Given the description of an element on the screen output the (x, y) to click on. 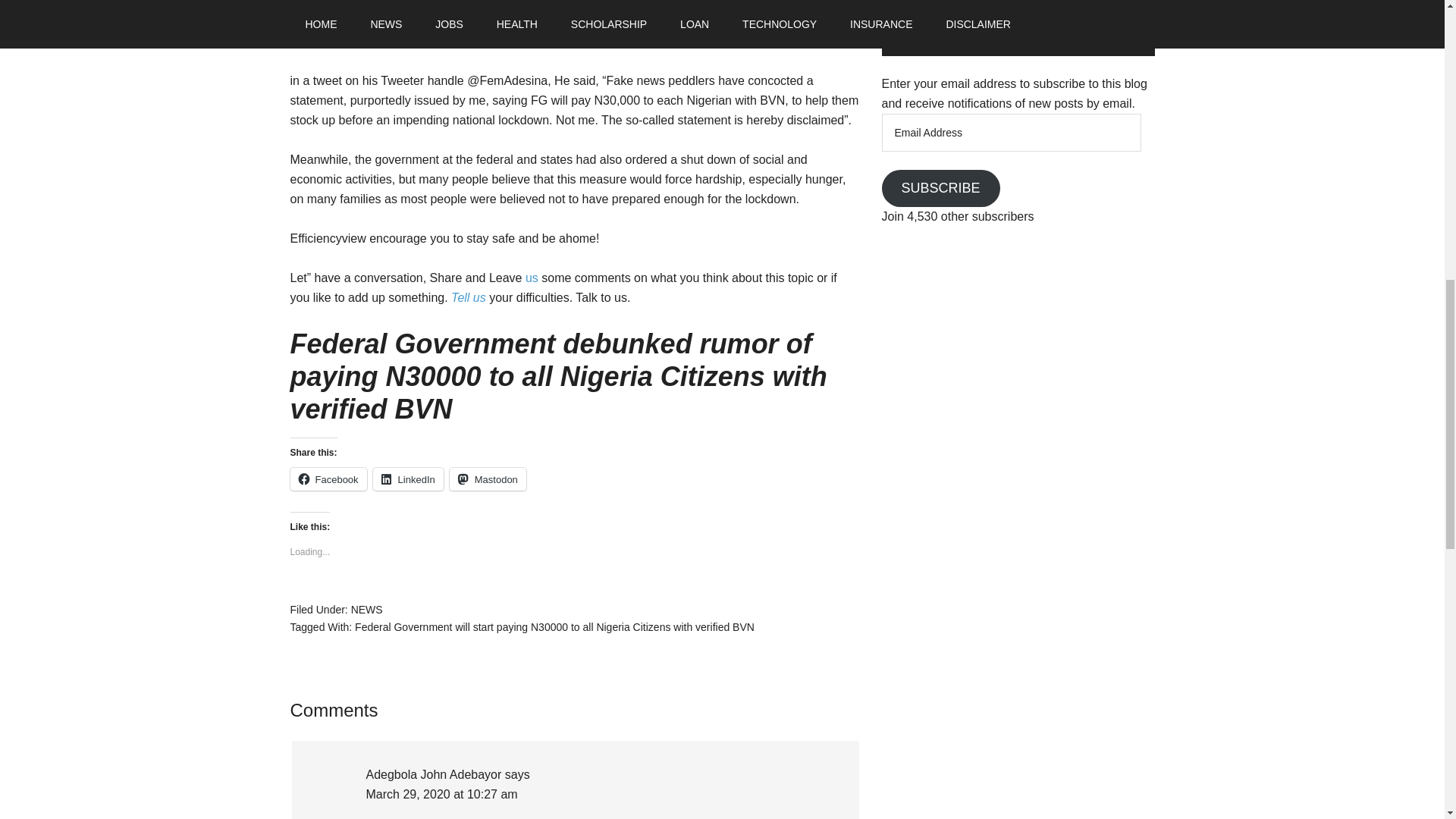
VGN (430, 4)
LinkedIn (408, 478)
Mastodon (487, 478)
Click to share on Facebook (327, 478)
Facebook (327, 478)
Click to share on LinkedIn (408, 478)
NEWS (366, 609)
Click to share on Mastodon (487, 478)
Tell us (468, 297)
